Given the description of an element on the screen output the (x, y) to click on. 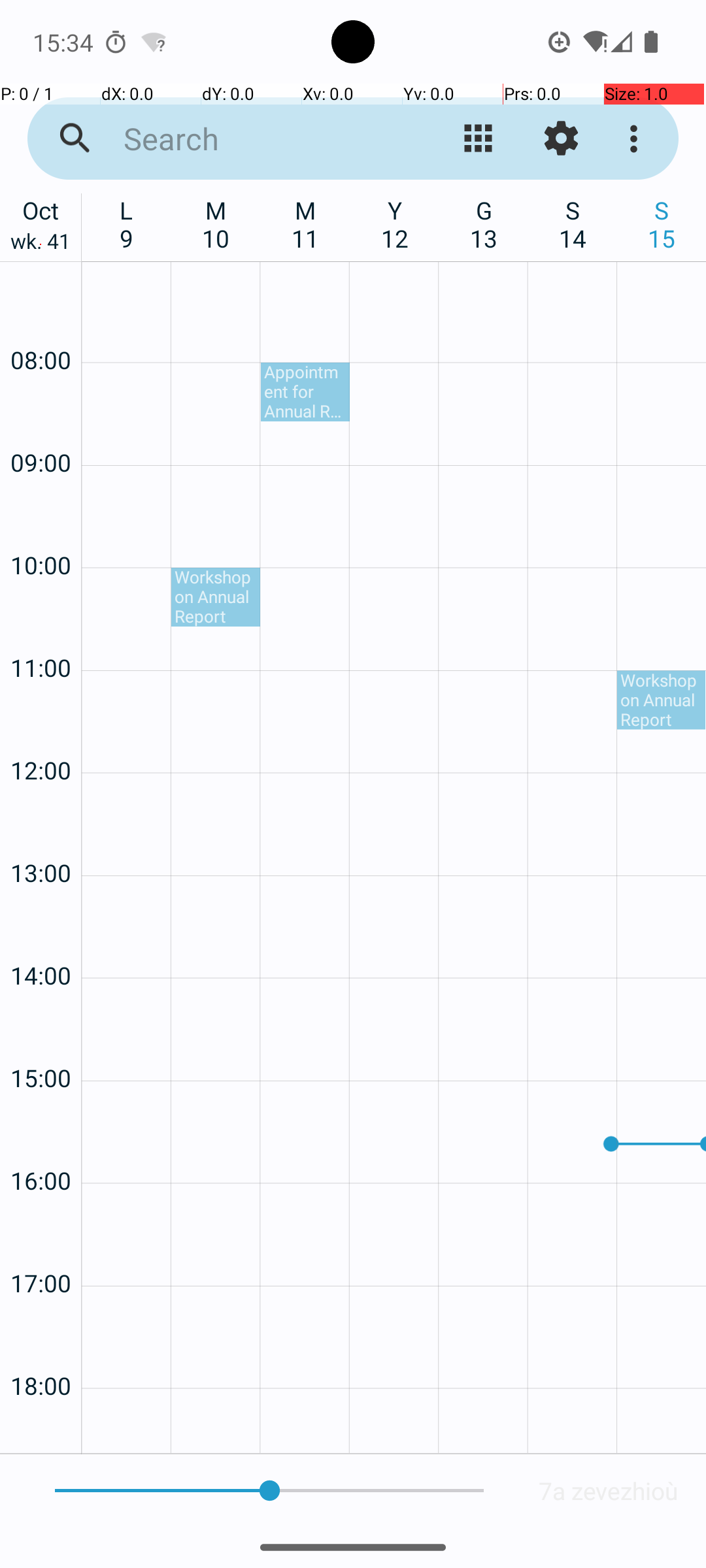
Kemmañ ar gwel Element type: android.widget.Button (477, 138)
7a zevezhioù Element type: android.widget.TextView (608, 1490)
L
9 Element type: android.widget.TextView (126, 223)
M
10 Element type: android.widget.TextView (215, 223)
M
11 Element type: android.widget.TextView (305, 223)
Y
12 Element type: android.widget.TextView (394, 223)
G
13 Element type: android.widget.TextView (483, 223)
